Given the description of an element on the screen output the (x, y) to click on. 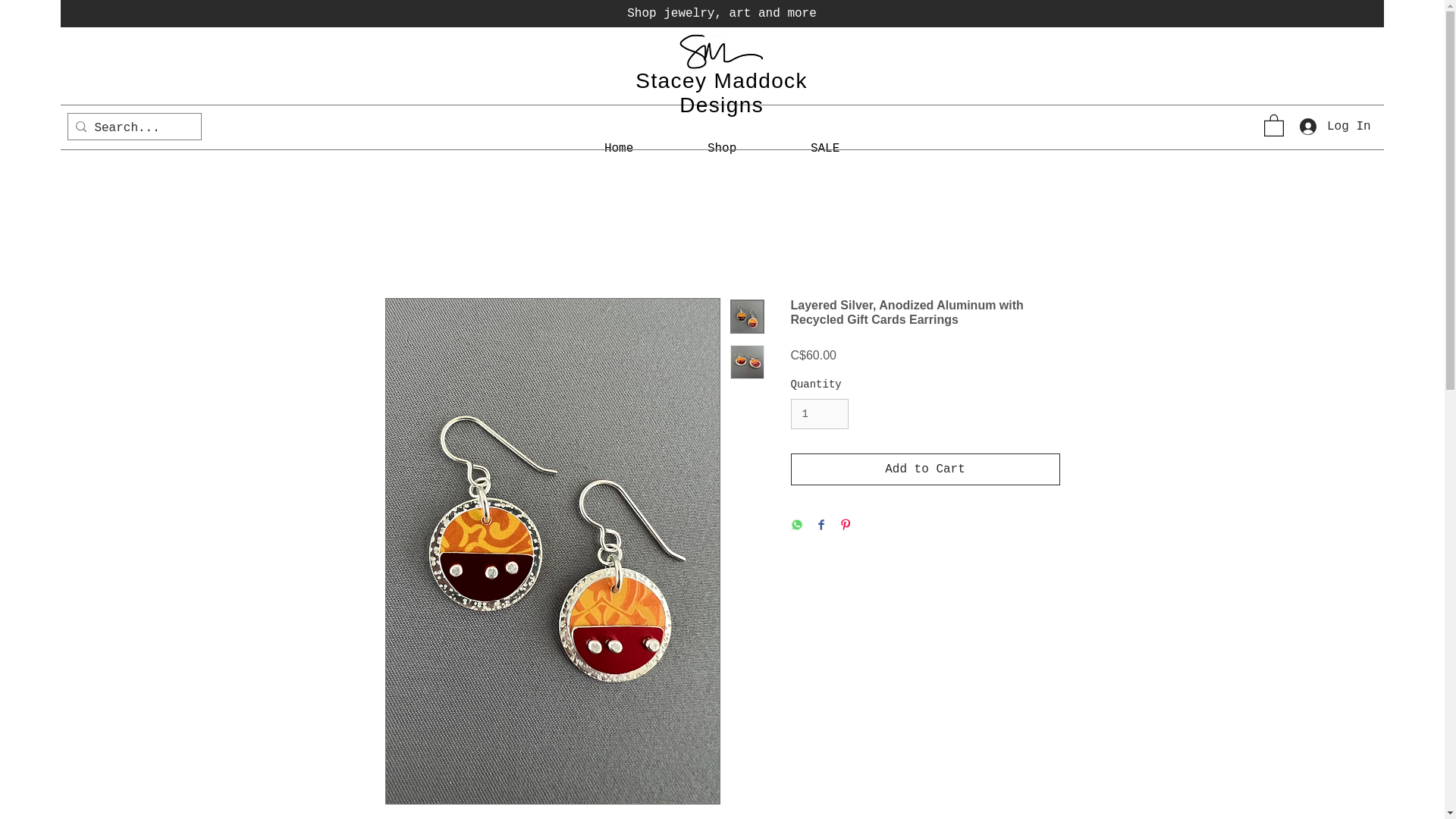
1 (818, 413)
Home (618, 148)
Log In (1329, 126)
SALE (824, 148)
Stacey Maddock Designs (721, 92)
